Given the description of an element on the screen output the (x, y) to click on. 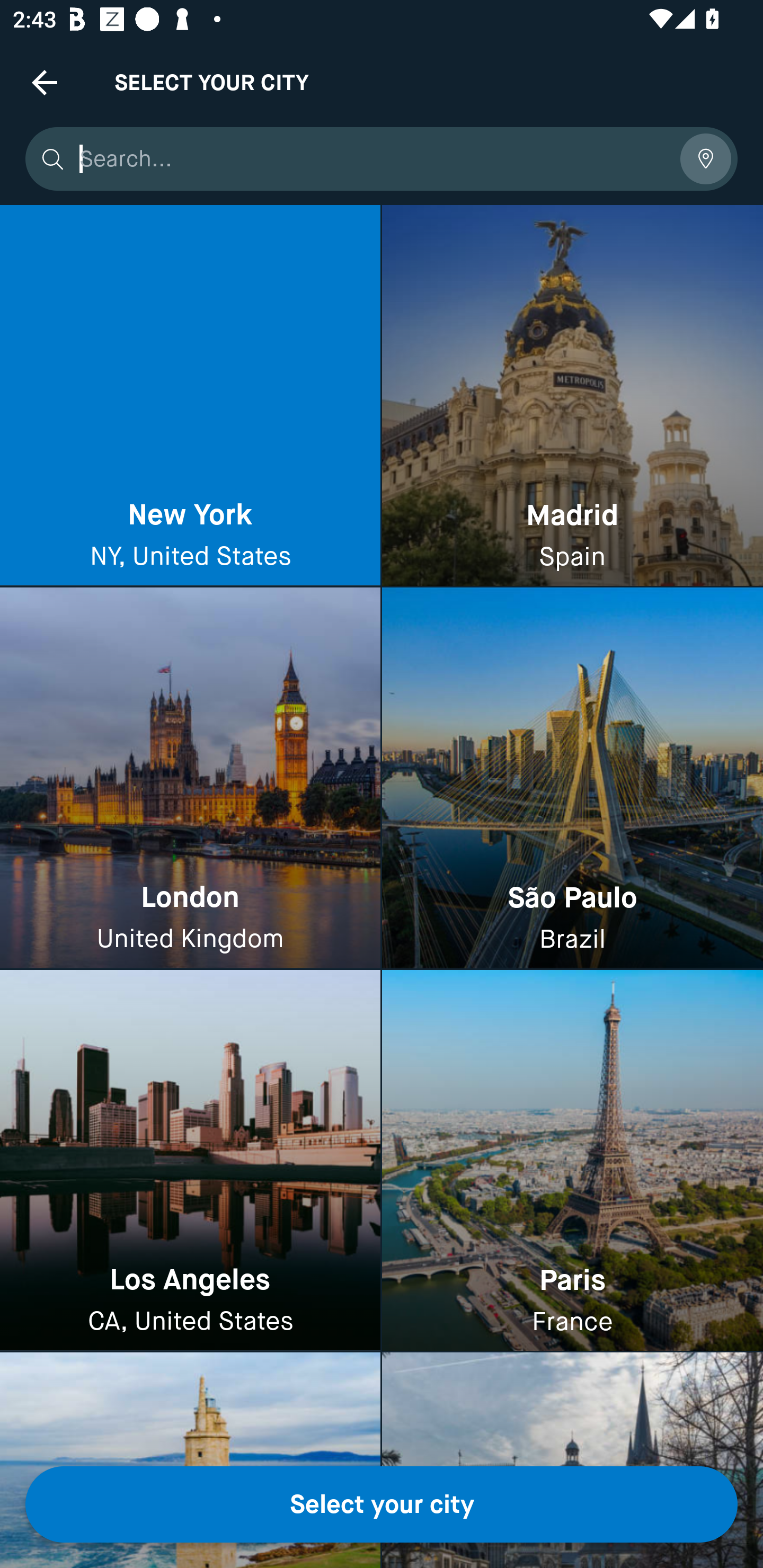
Navigate up (44, 82)
Search... (373, 159)
New York NY, United States (190, 395)
Madrid Spain (572, 395)
London United Kingdom (190, 778)
São Paulo Brazil (572, 778)
Los Angeles CA, United States (190, 1160)
Paris France (572, 1160)
Select your city (381, 1504)
